Given the description of an element on the screen output the (x, y) to click on. 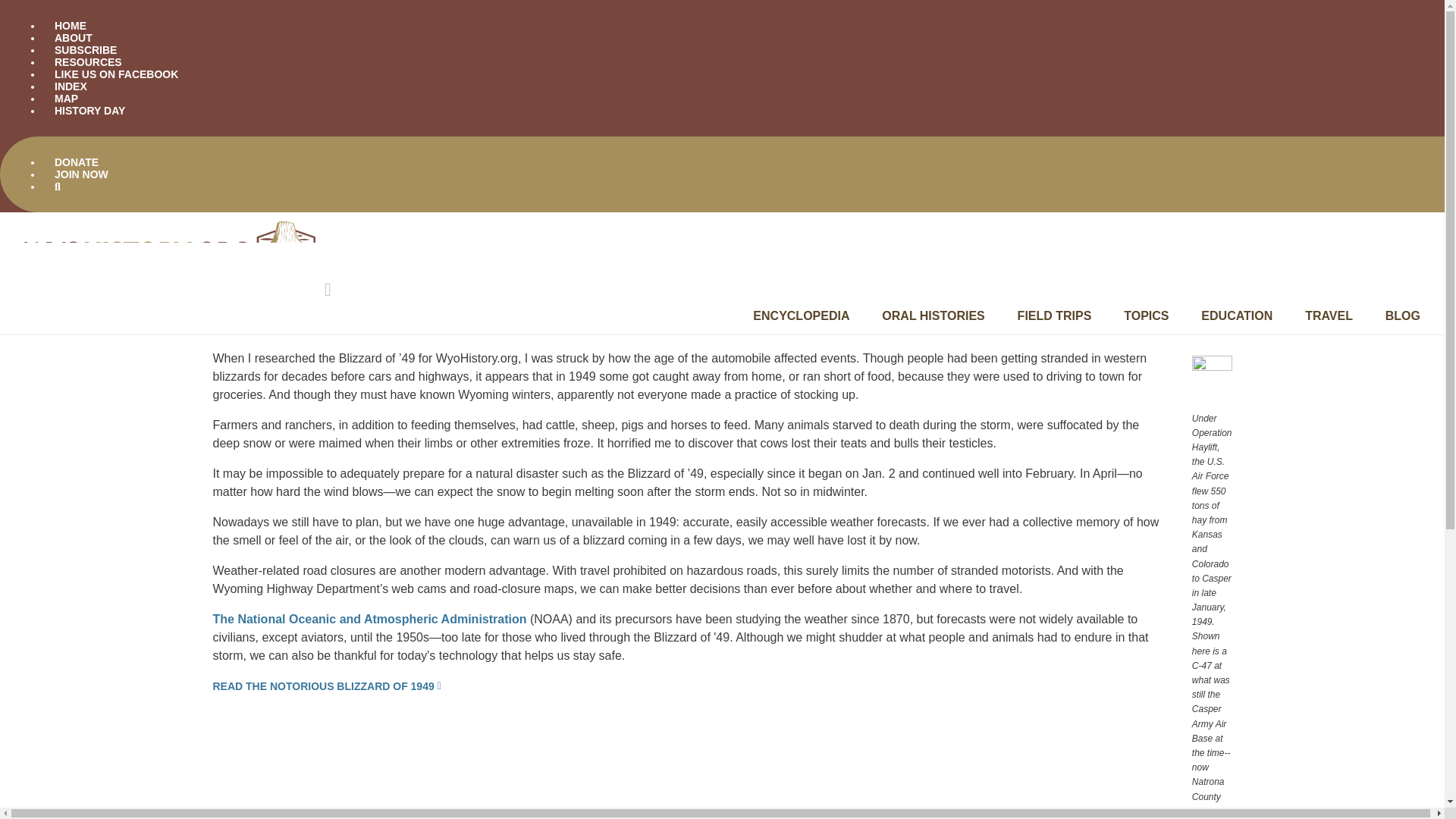
HISTORY DAY (89, 110)
RESOURCES (87, 61)
HOME (70, 25)
JOIN NOW (81, 174)
LIKE US ON FACEBOOK (116, 73)
Skip to main content (722, 112)
Home (171, 278)
FIELD TRIPS (1054, 315)
SUBSCRIBE (85, 50)
TRAVEL (1328, 315)
